Given the description of an element on the screen output the (x, y) to click on. 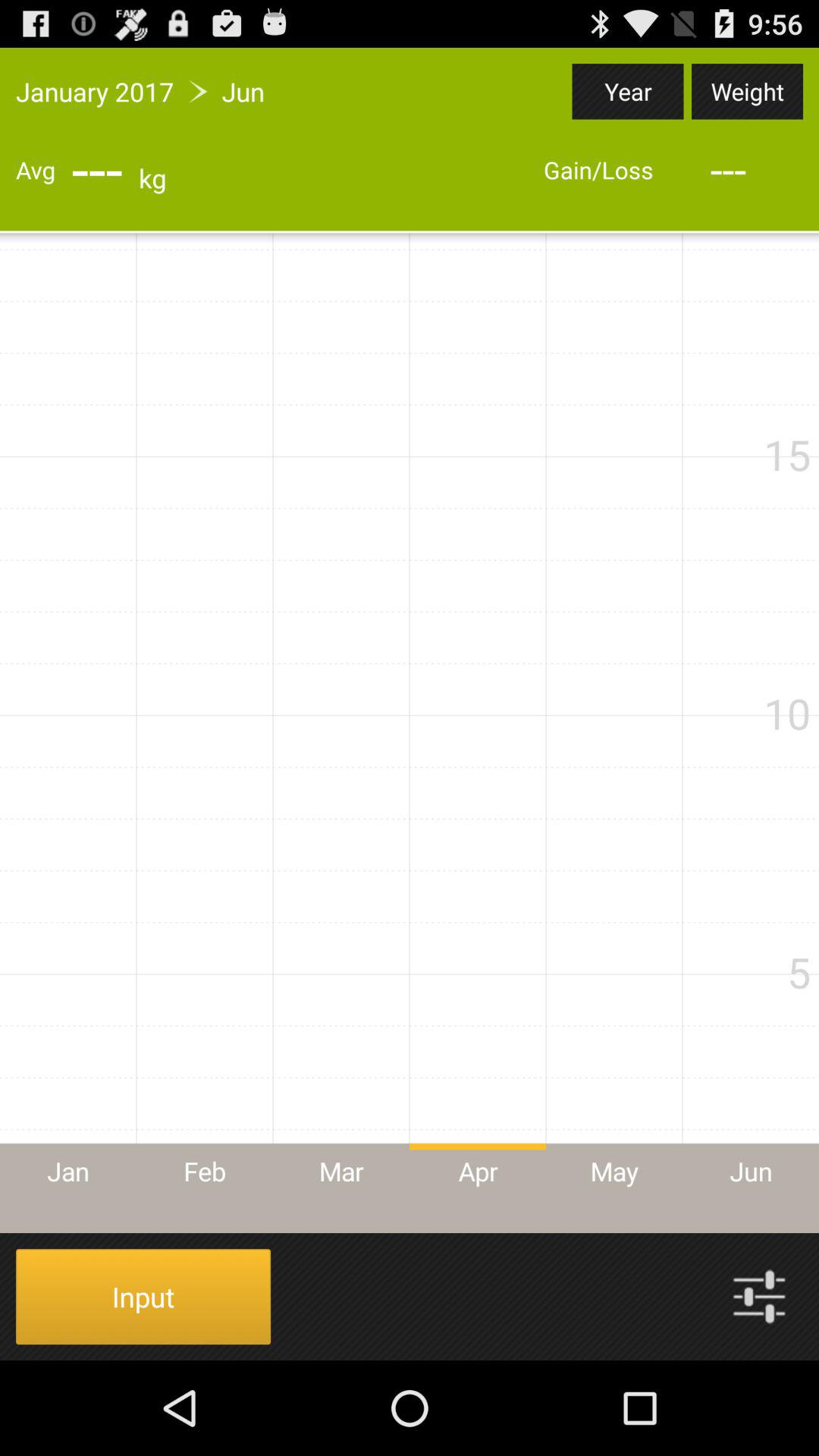
choose item to the right of the input (759, 1296)
